Given the description of an element on the screen output the (x, y) to click on. 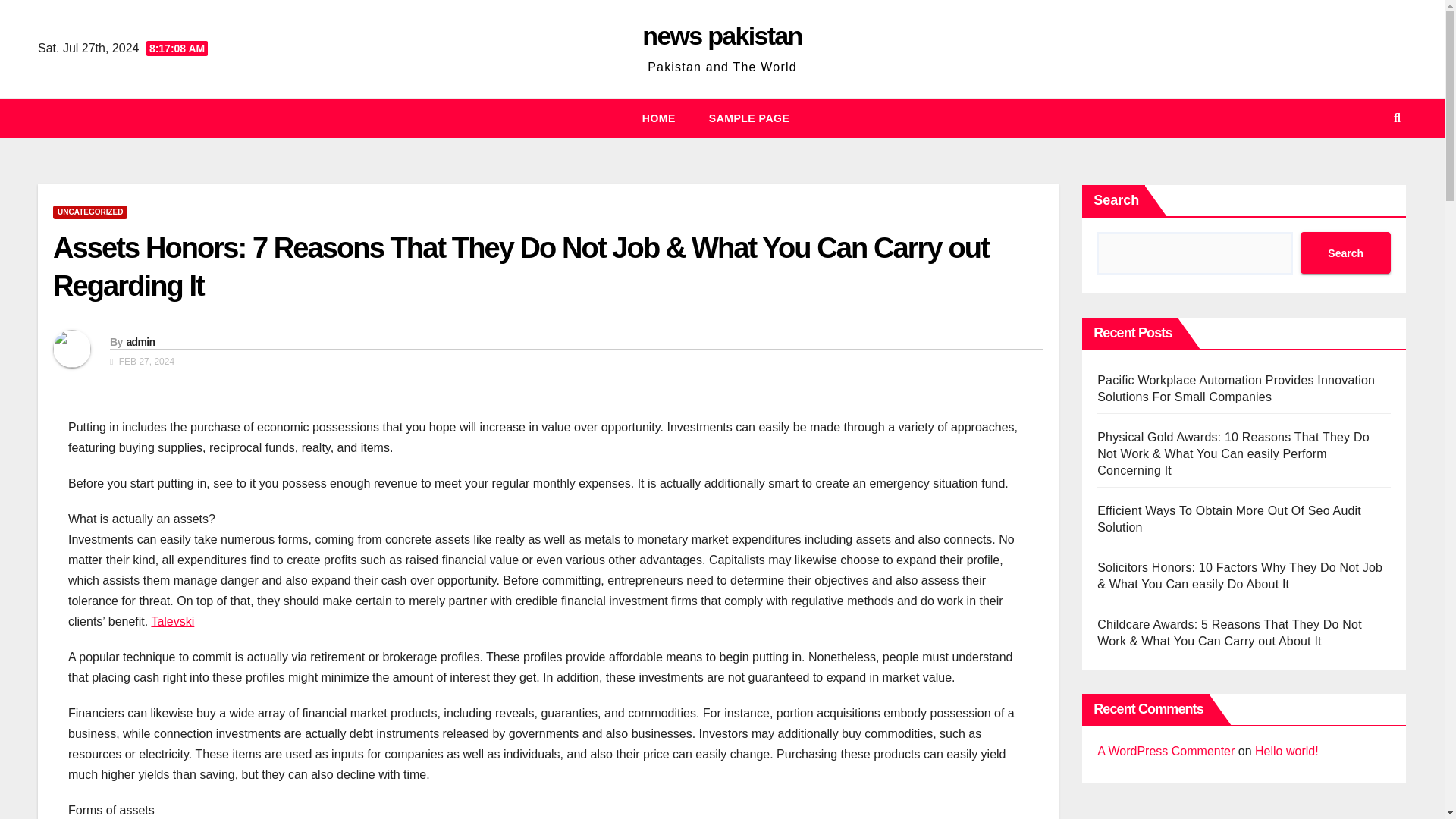
UNCATEGORIZED (90, 212)
Home (659, 118)
SAMPLE PAGE (749, 118)
admin (139, 341)
Search (1345, 252)
HOME (659, 118)
Talevski (172, 621)
news pakistan (722, 35)
